Given the description of an element on the screen output the (x, y) to click on. 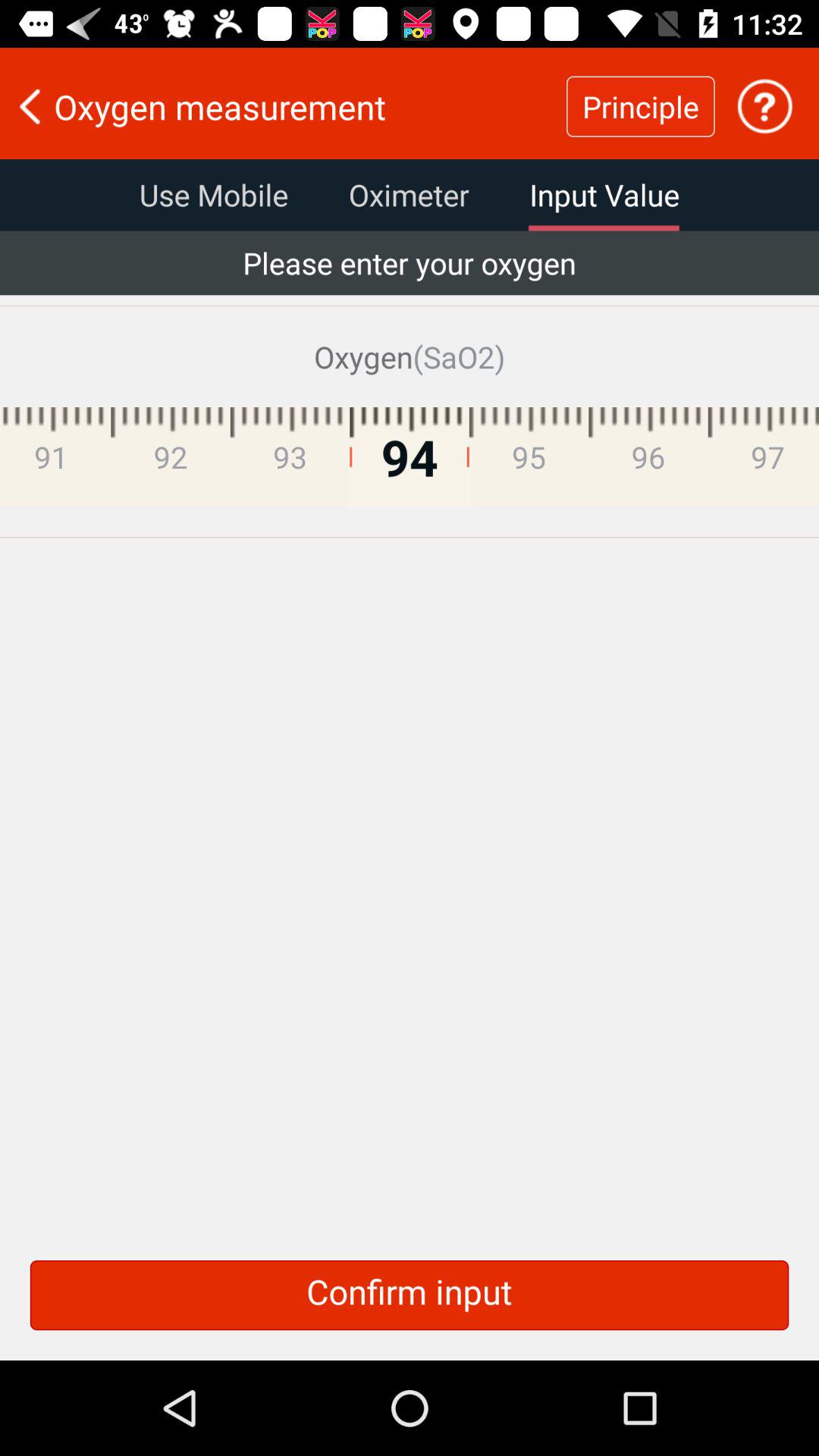
swipe to the oxygen measurement item (283, 106)
